Given the description of an element on the screen output the (x, y) to click on. 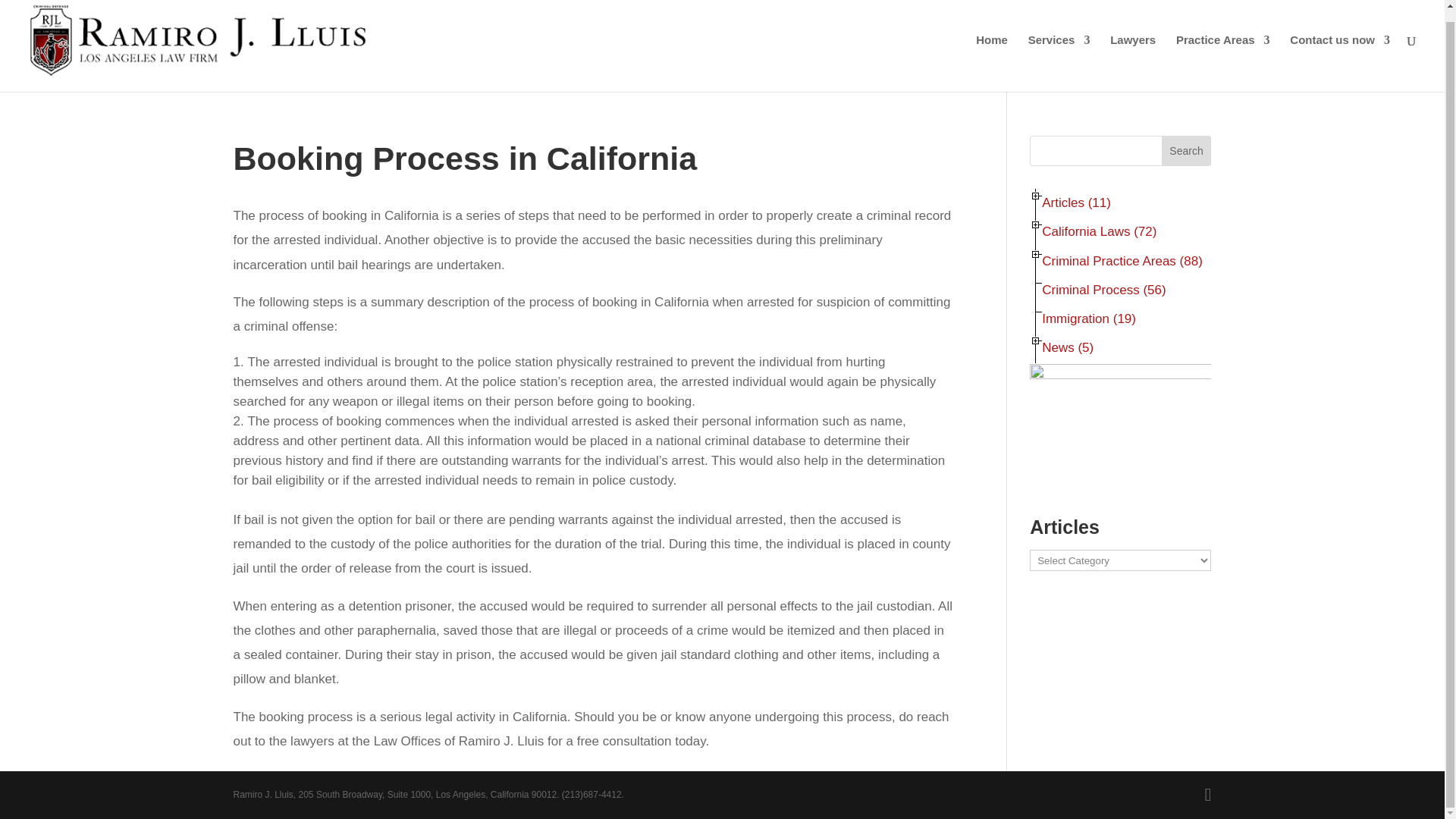
Lawyers (1132, 63)
Contact us now (1340, 63)
Services (1058, 63)
Search (1186, 150)
Practice Areas (1222, 63)
los angeles criminal lawyers (1132, 63)
Home (991, 63)
